Given the description of an element on the screen output the (x, y) to click on. 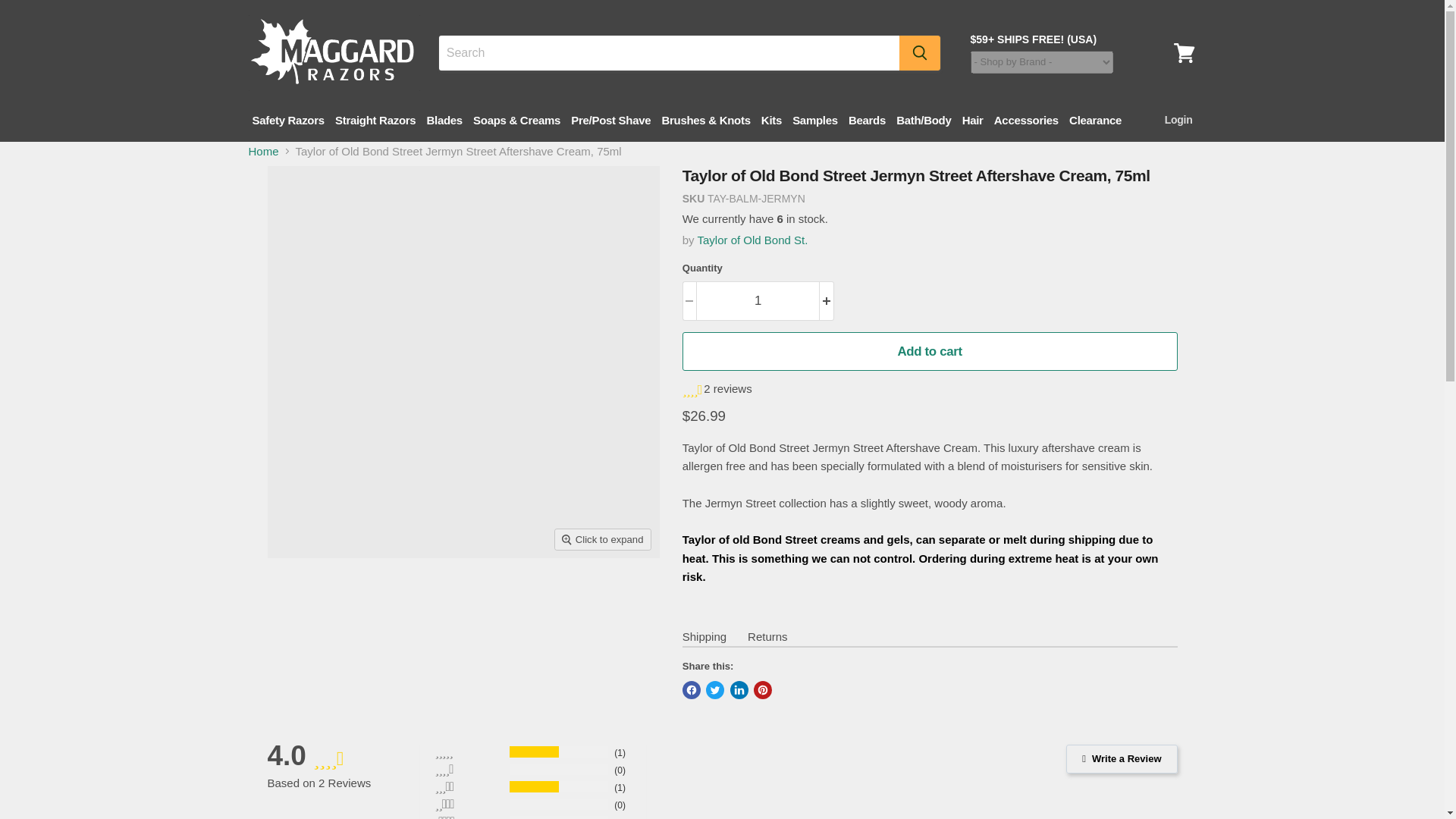
Samples (815, 119)
Clearance (1095, 119)
Straight Razors (375, 119)
Taylor of Old Bond St. (752, 239)
Login (1176, 119)
View cart (1184, 53)
Blades (444, 119)
Kits (771, 119)
Beards (866, 119)
Hair (972, 119)
